Given the description of an element on the screen output the (x, y) to click on. 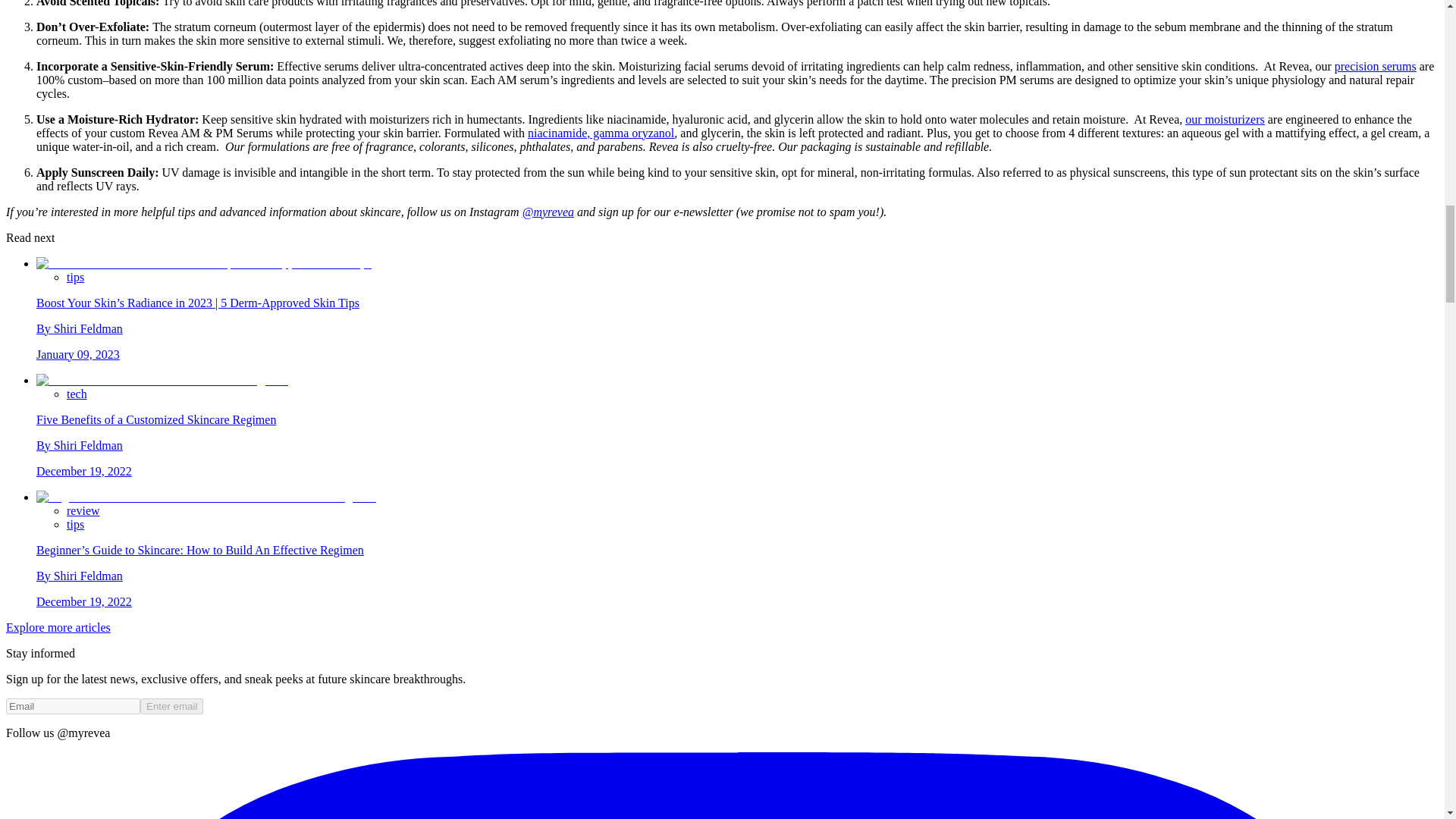
Enter email (171, 705)
tech (76, 392)
Explore more articles (57, 626)
review (83, 509)
our moisturizers (1224, 118)
niacinamide, gamma oryzanol (600, 132)
precision serums (1375, 65)
tips (75, 522)
tips (75, 276)
